Given the description of an element on the screen output the (x, y) to click on. 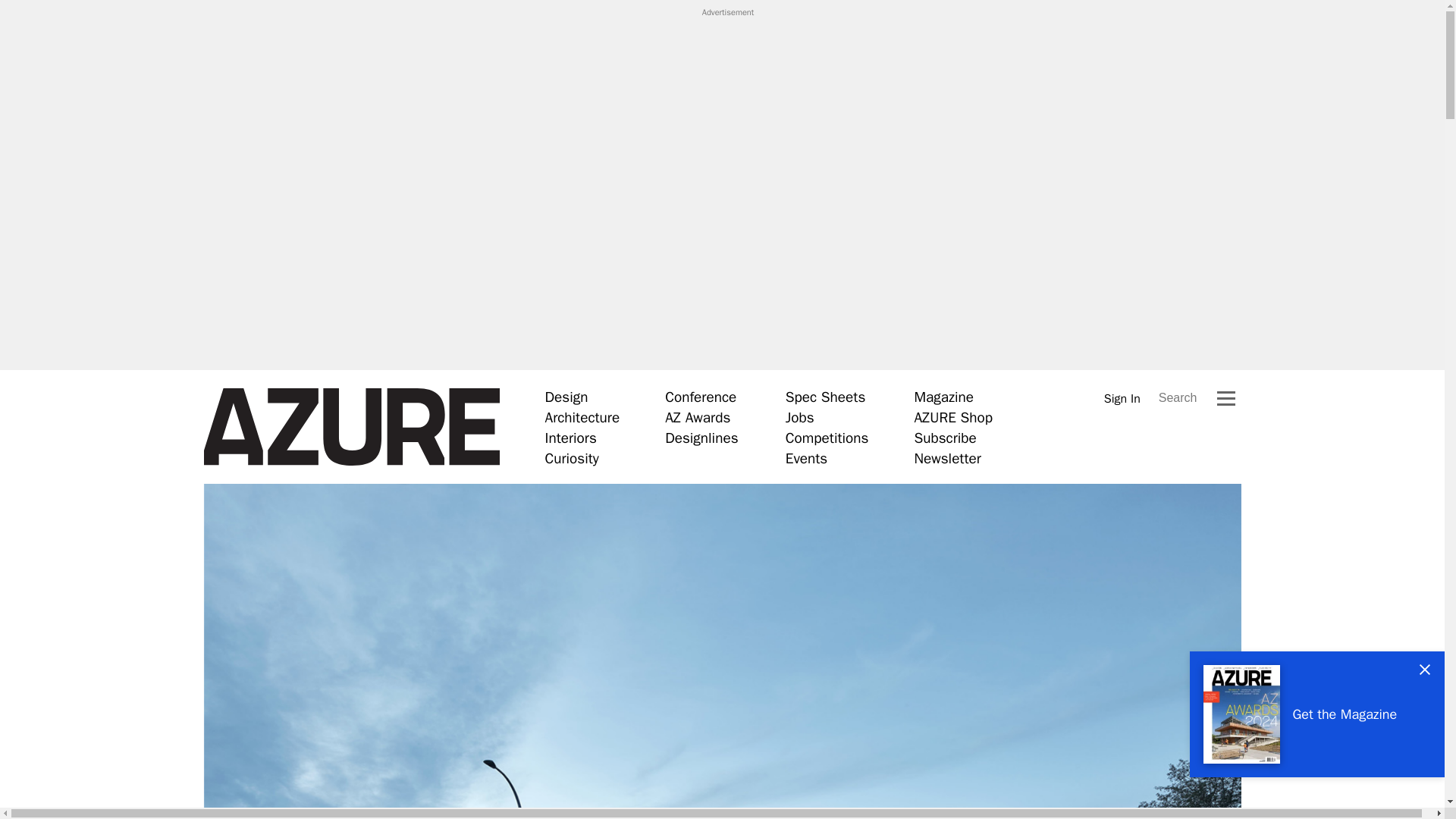
Competitions (827, 438)
Curiosity (571, 458)
Azure Magazine (351, 426)
Architecture (582, 417)
Search (1178, 397)
AZ Awards (697, 417)
Events (806, 458)
Sign In (1122, 398)
Design (566, 397)
Spec Sheets (825, 397)
Designlines (701, 438)
Conference (700, 397)
Subscribe (944, 438)
AZURE Shop (953, 417)
Interiors (569, 438)
